Given the description of an element on the screen output the (x, y) to click on. 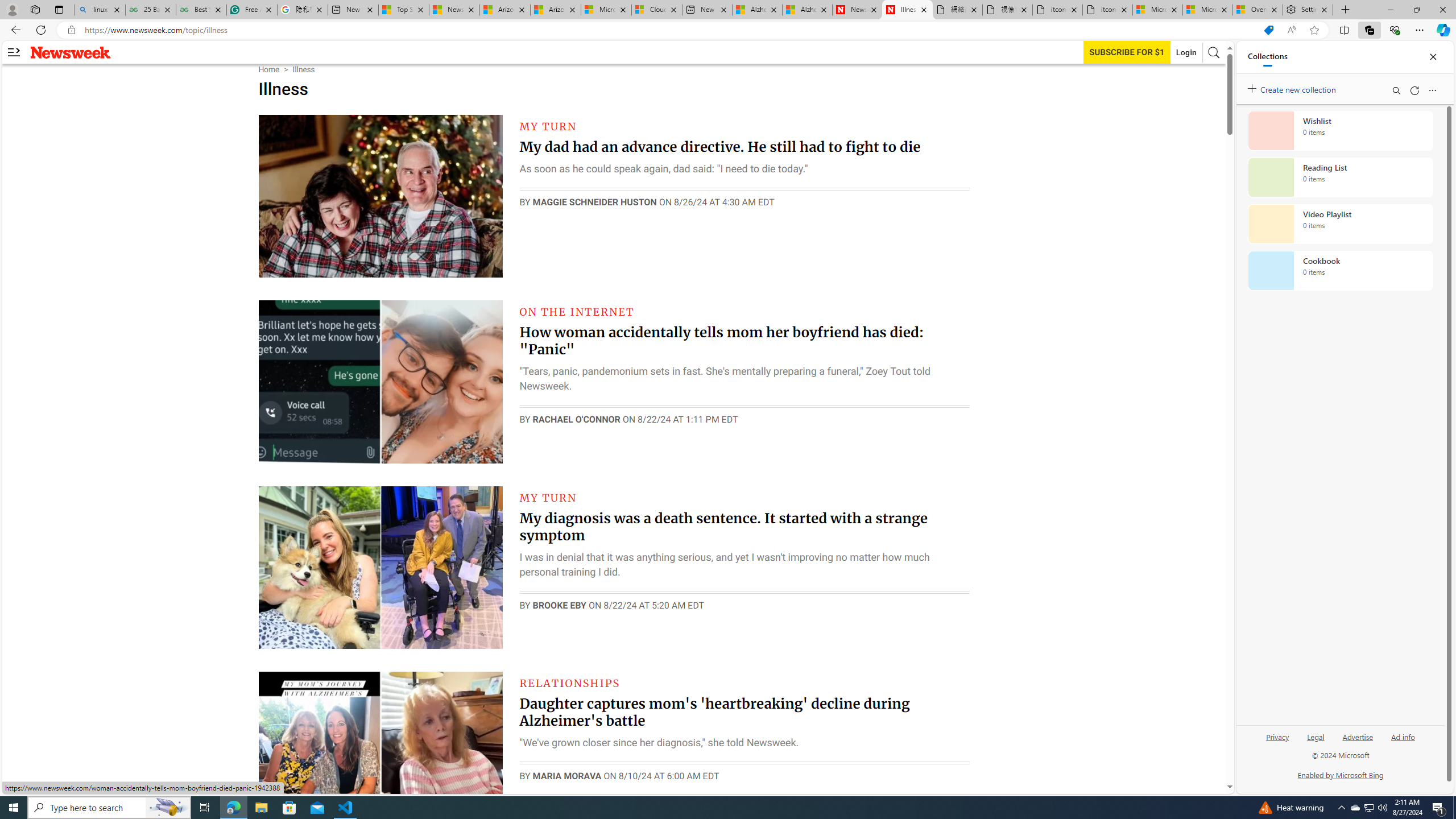
Free AI Writing Assistance for Students | Grammarly (251, 9)
News - MSN (453, 9)
Cookbook collection, 0 items (1339, 270)
linux basic - Search (99, 9)
RELATIONSHIPS (569, 682)
AutomationID: side-arrow (13, 51)
